Given the description of an element on the screen output the (x, y) to click on. 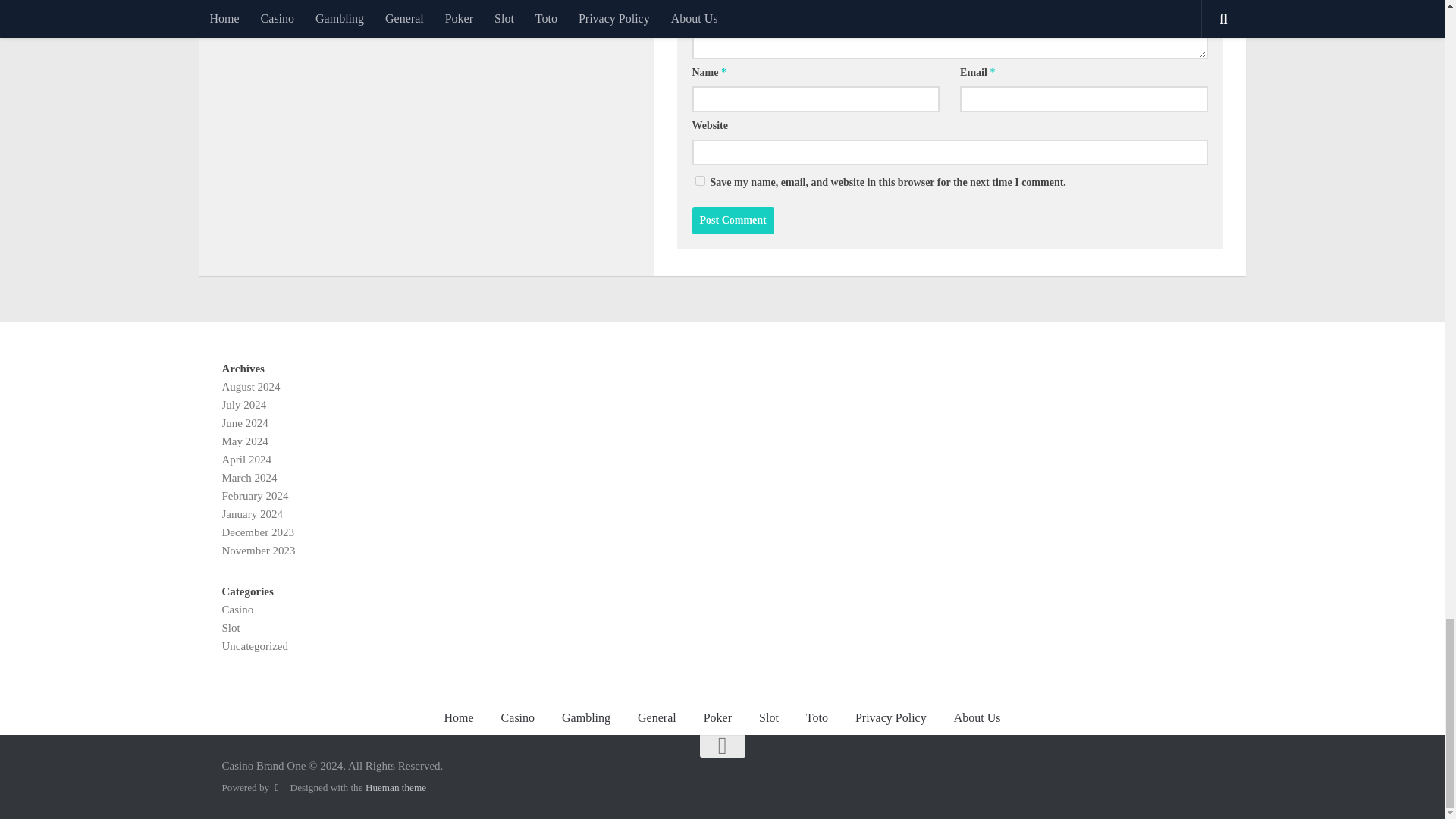
Powered by WordPress (275, 787)
Post Comment (732, 220)
yes (699, 180)
